Given the description of an element on the screen output the (x, y) to click on. 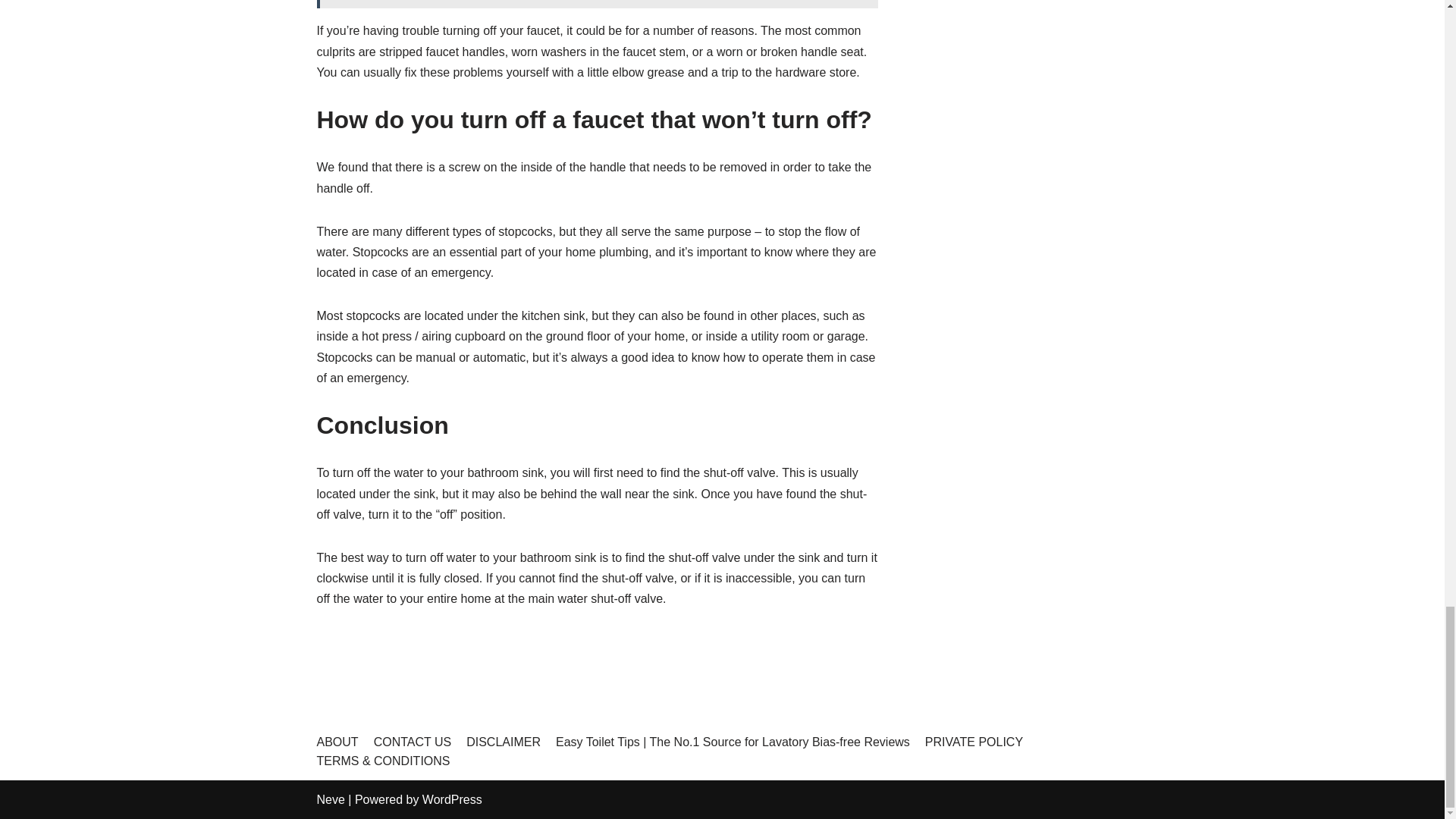
ABOUT (337, 742)
DISCLAIMER (502, 742)
CONTACT US (412, 742)
See also  How long to run water after drano? (597, 4)
PRIVATE POLICY (973, 742)
